Given the description of an element on the screen output the (x, y) to click on. 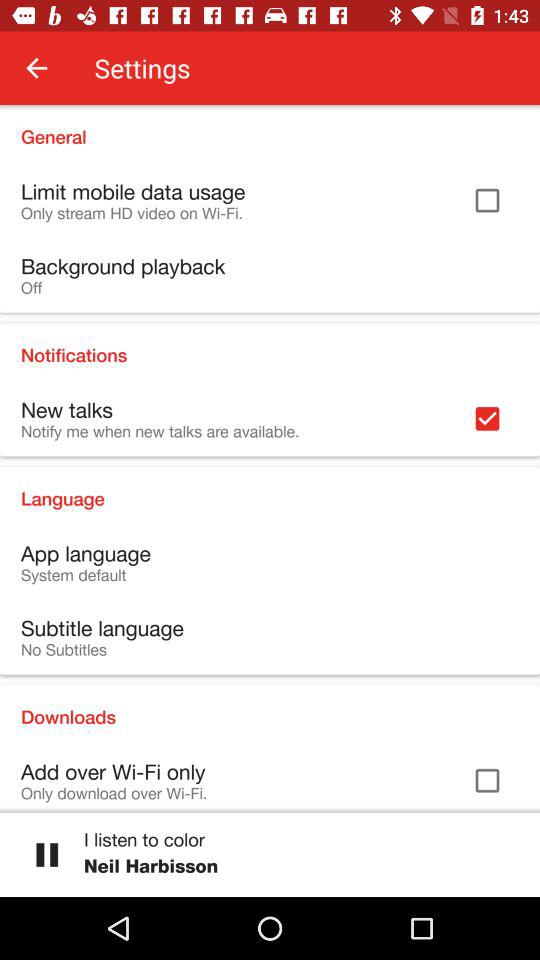
open the icon to the left of settings (36, 68)
